Given the description of an element on the screen output the (x, y) to click on. 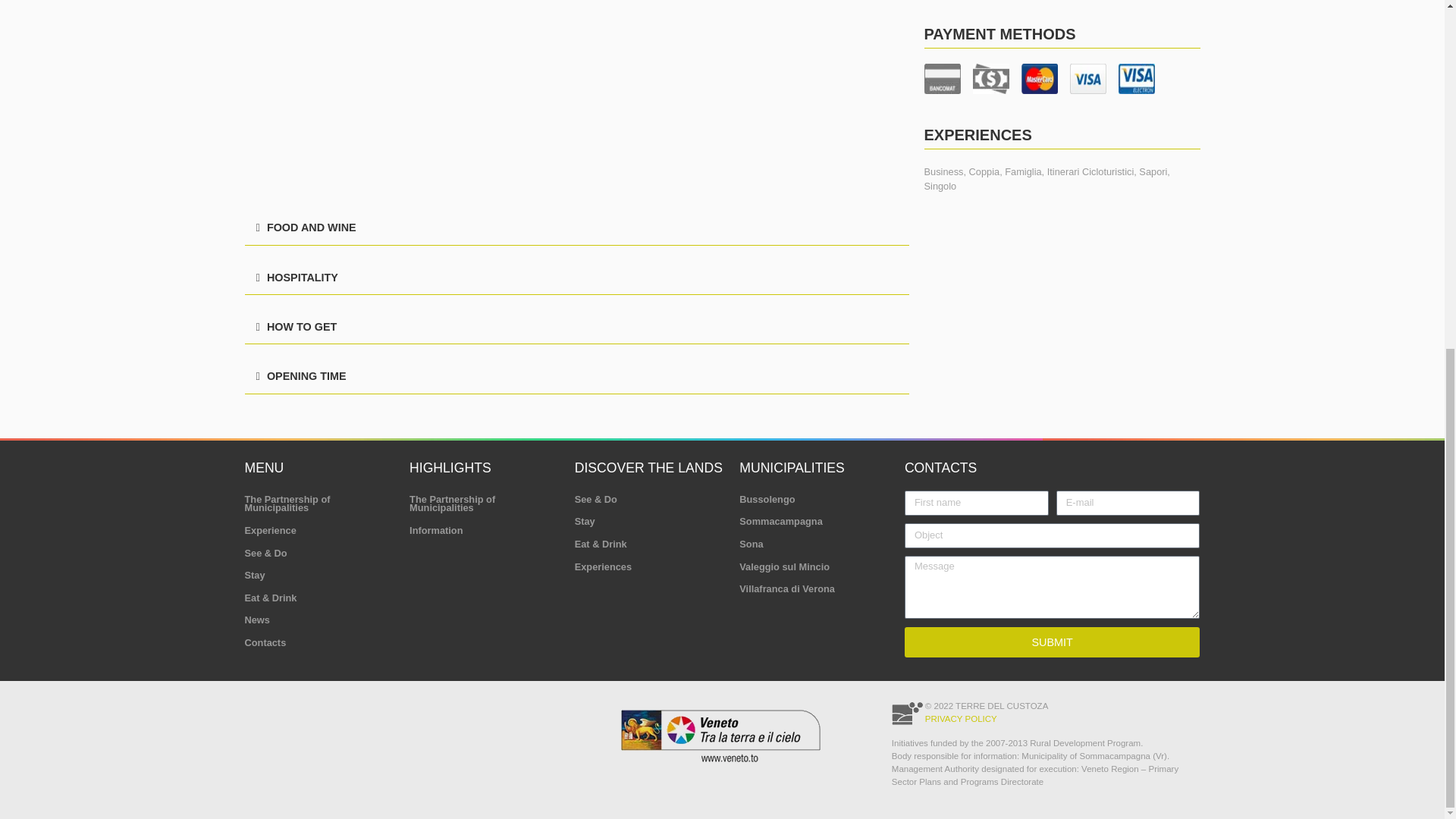
Visa Electron (1136, 78)
HOW TO GET (301, 326)
Experience (319, 530)
FOOD AND WINE (311, 227)
HOSPITALITY (301, 277)
Cash (990, 78)
Mastercard (1038, 78)
Bancomat (941, 78)
OPENING TIME (306, 376)
Stay (319, 575)
Visa (1086, 78)
The Partnership of Municipalities (319, 503)
